Given the description of an element on the screen output the (x, y) to click on. 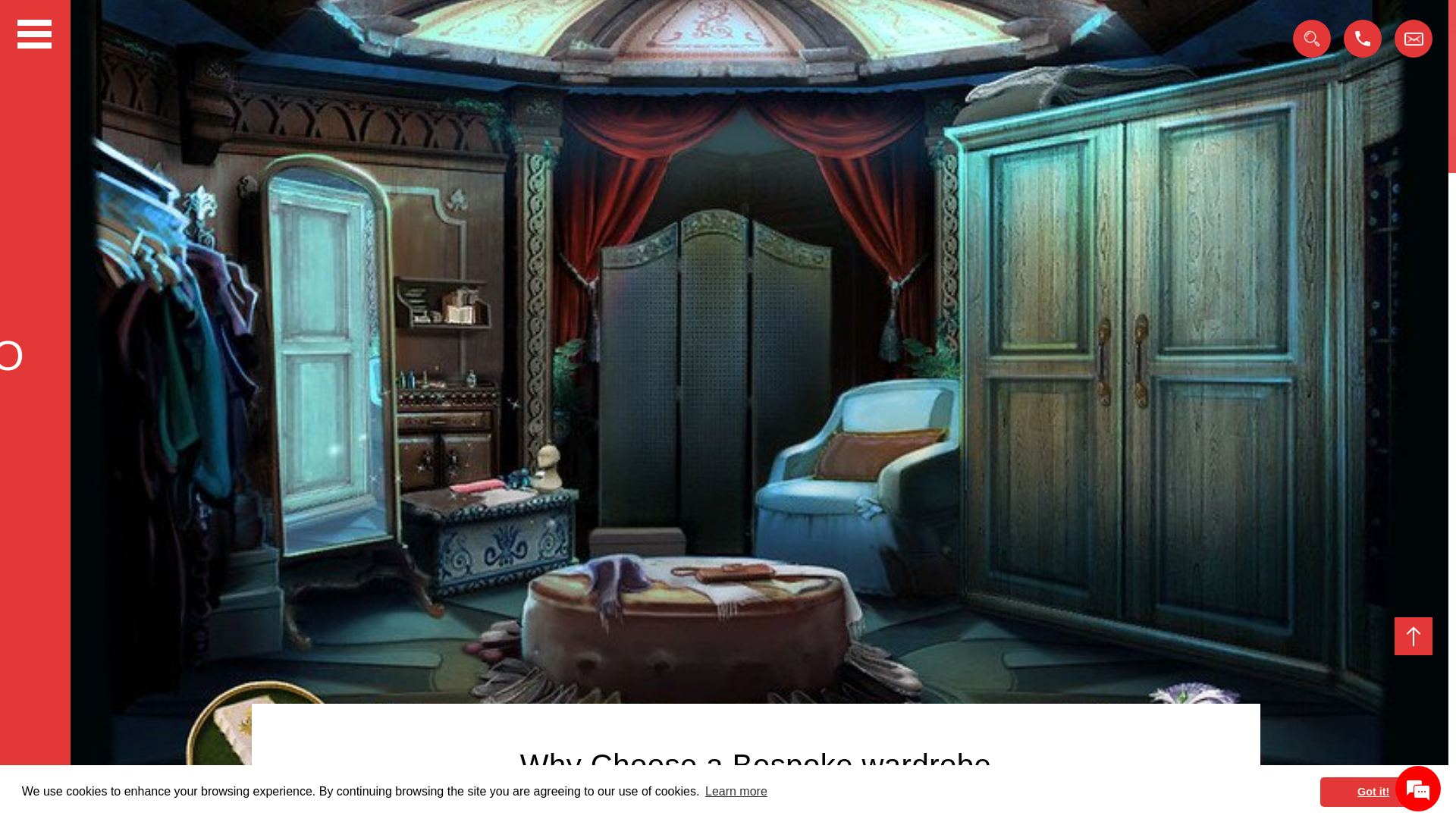
Got it! Element type: text (1373, 791)
Learn more Element type: text (735, 791)
